Given the description of an element on the screen output the (x, y) to click on. 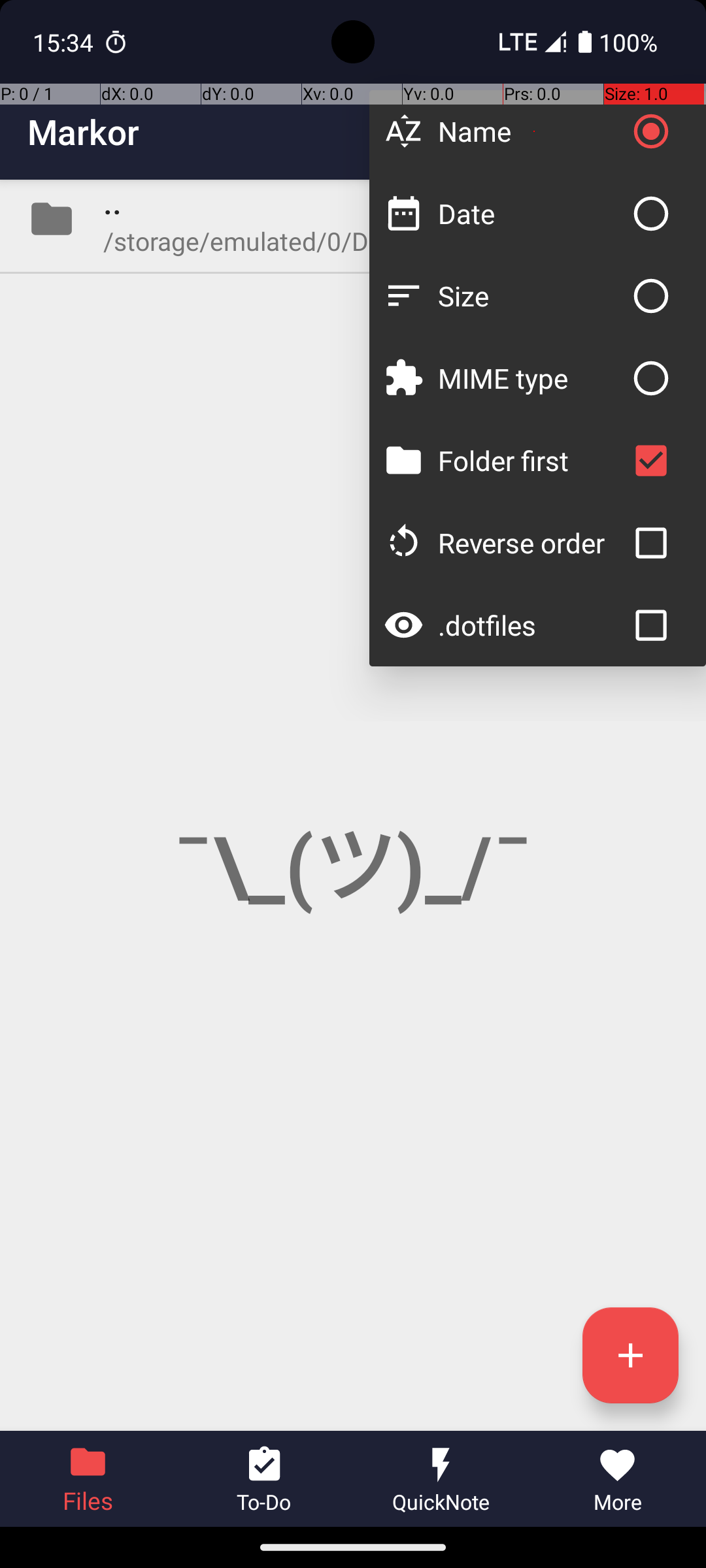
MIME type Element type: android.widget.TextView (530, 377)
Folder first Element type: android.widget.TextView (530, 459)
Reverse order Element type: android.widget.TextView (530, 542)
.dotfiles Element type: android.widget.TextView (530, 624)
